Given the description of an element on the screen output the (x, y) to click on. 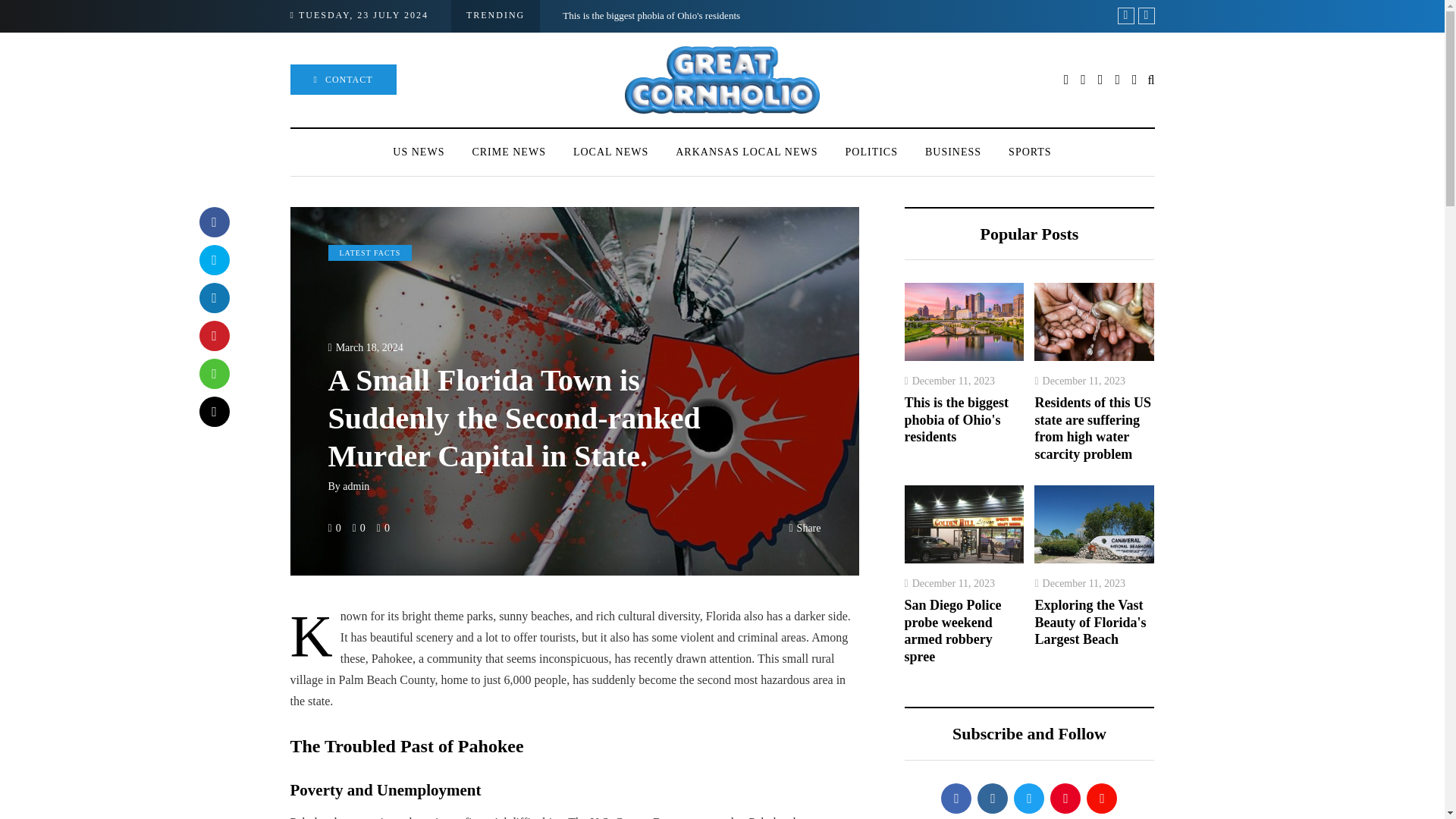
Share by Email (213, 411)
US NEWS (418, 152)
LOCAL NEWS (610, 152)
Posts by admin (355, 486)
POLITICS (871, 152)
Share to WhatsApp (213, 373)
Tweet this (213, 259)
Pin this (213, 336)
Share with Facebook (213, 222)
CRIME NEWS (508, 152)
This is the biggest phobia of Ohio's residents (650, 15)
SPORTS (1029, 152)
Share with LinkedIn (213, 297)
ARKANSAS LOCAL NEWS (746, 152)
CONTACT (342, 79)
